Given the description of an element on the screen output the (x, y) to click on. 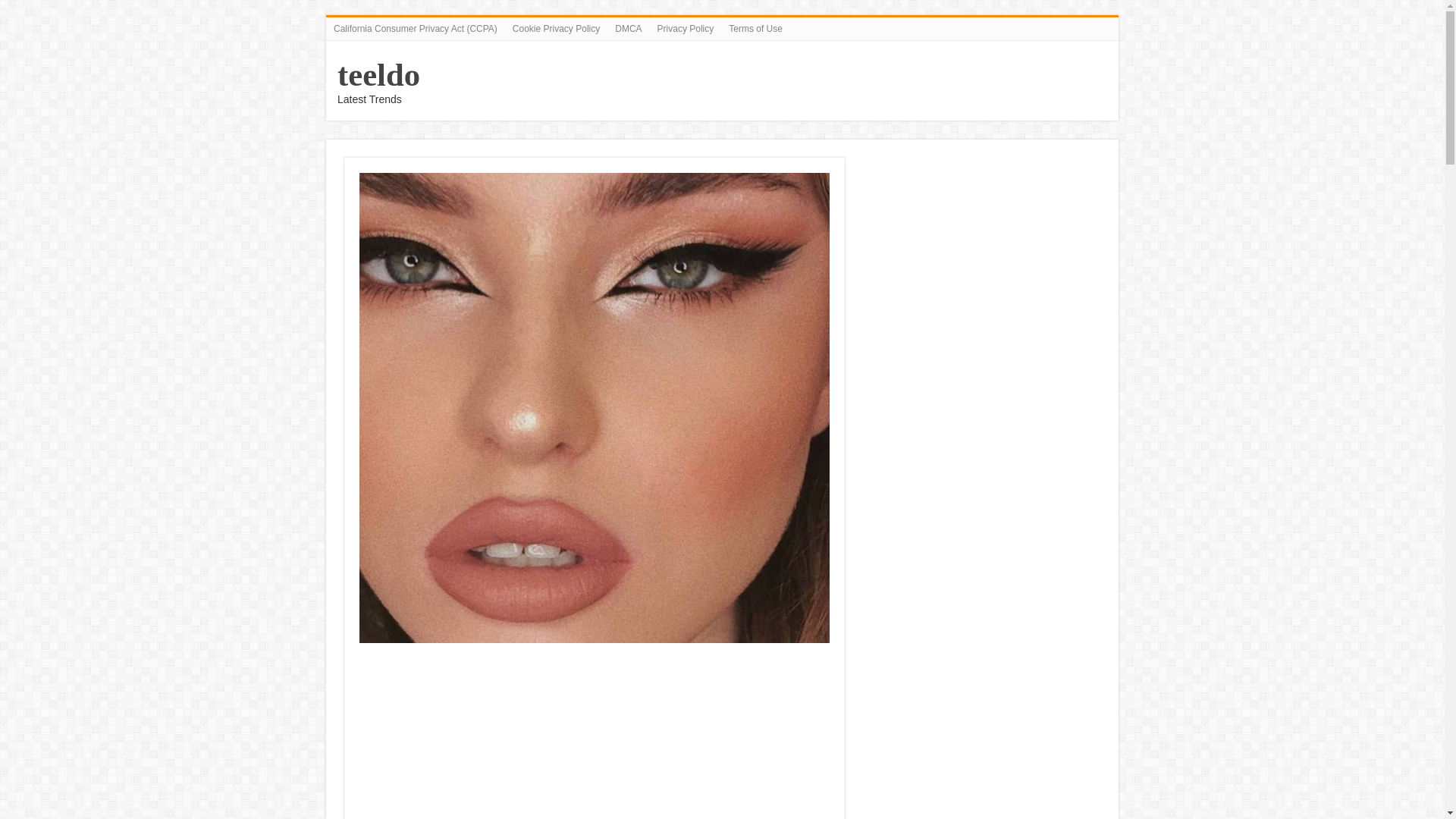
Cookie Privacy Policy (556, 28)
Advertisement (982, 263)
Privacy Policy (685, 28)
teeldo (378, 74)
Advertisement (594, 736)
Terms of Use (755, 28)
DMCA (628, 28)
